Given the description of an element on the screen output the (x, y) to click on. 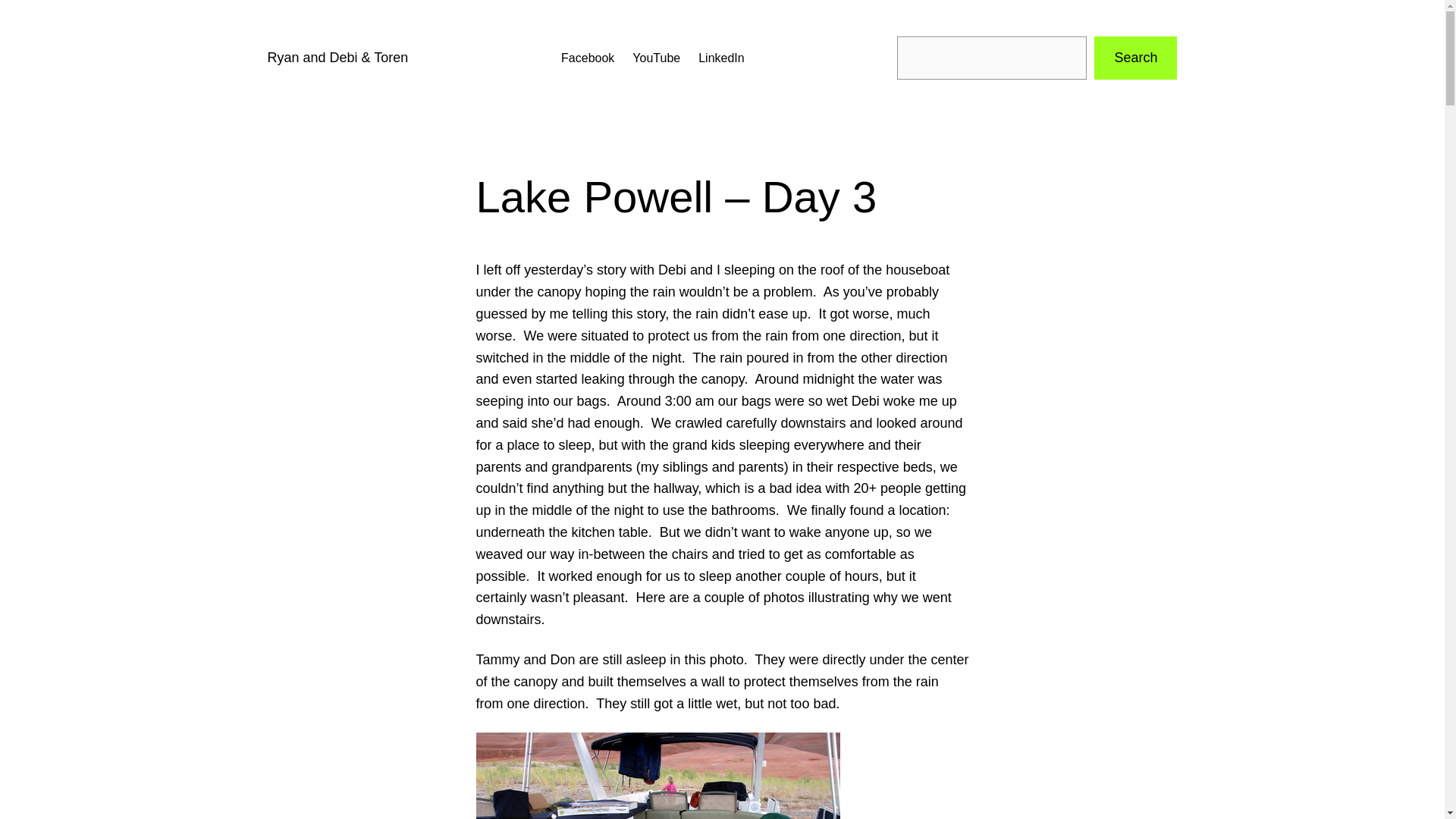
Facebook (587, 57)
LinkedIn (721, 57)
lake-powell-8-6-2008-9-57-10-am (658, 775)
YouTube (655, 57)
Search (1135, 57)
